Given the description of an element on the screen output the (x, y) to click on. 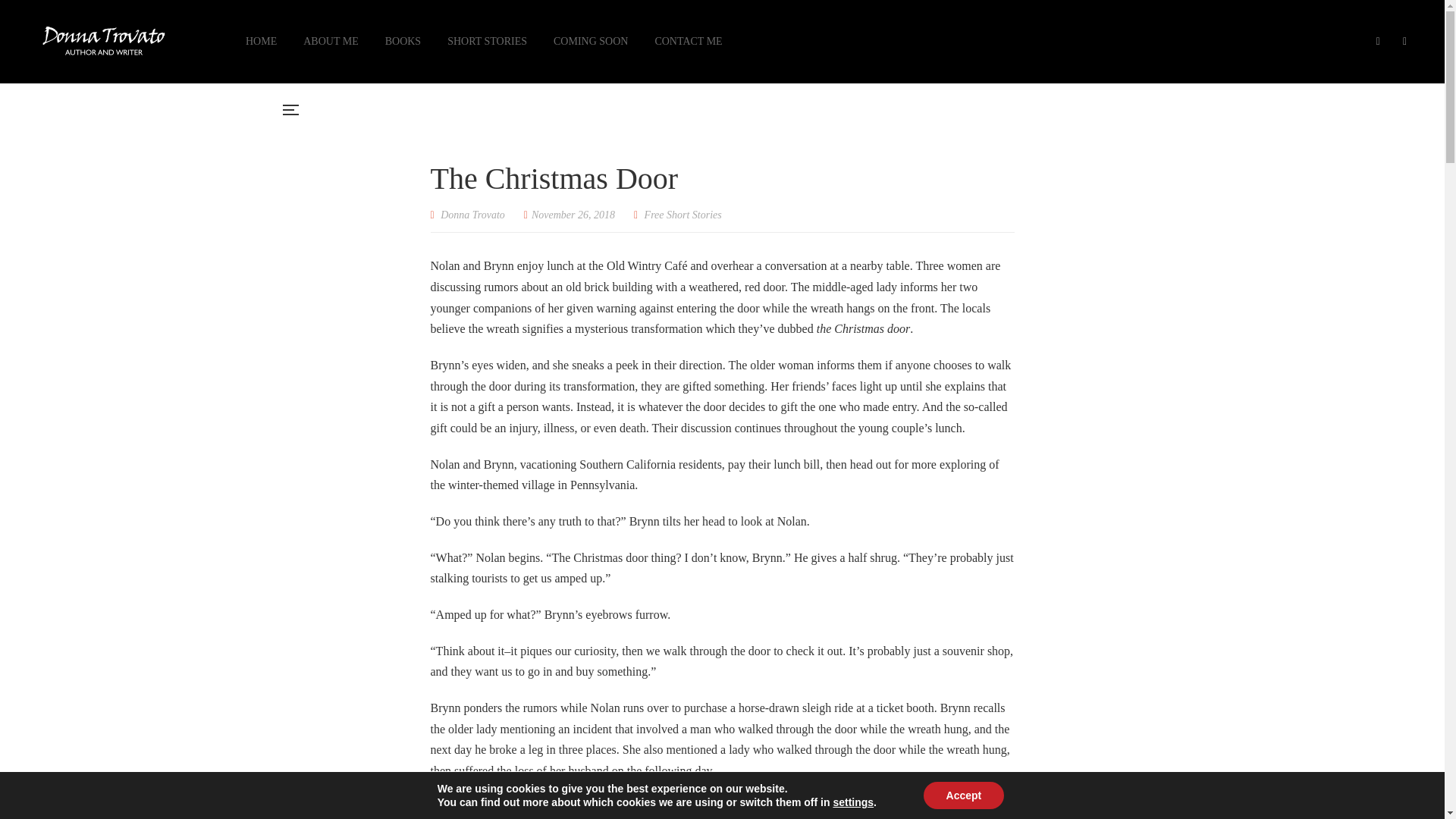
settings (852, 802)
Donna Trovato-Author and Writer (1099, 109)
Accept (963, 795)
BOOKS (402, 41)
CONTACT ME (687, 41)
COMING SOON (590, 41)
ABOUT ME (330, 41)
November 26, 2018 (569, 214)
Browse Author Articles (467, 214)
HOME (261, 41)
Donna Trovato-Author and Writer (103, 41)
The Christmas Door (569, 214)
Free Short Stories (683, 214)
Donna Trovato (467, 214)
SHORT STORIES (486, 41)
